Given the description of an element on the screen output the (x, y) to click on. 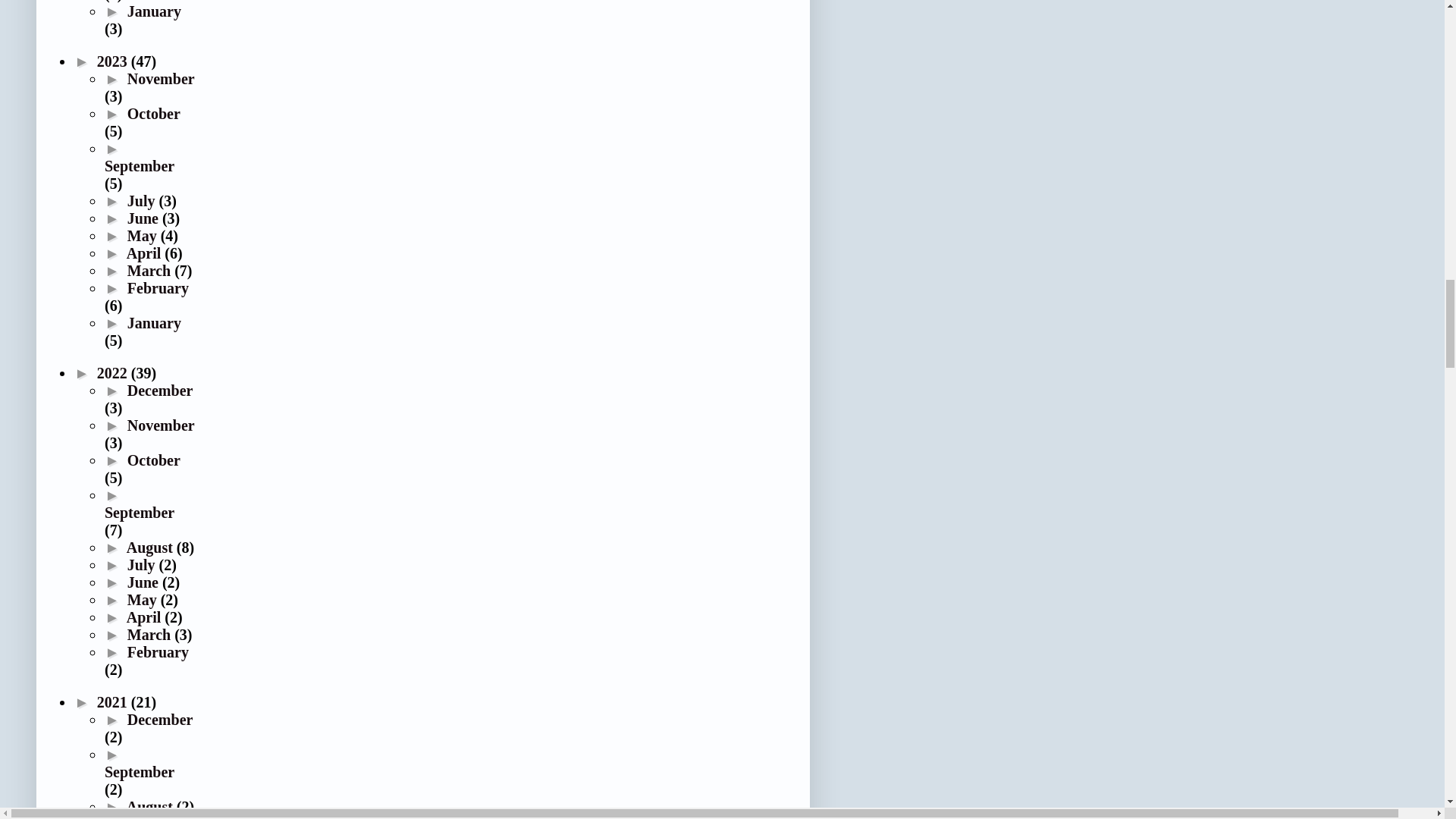
2023 (114, 61)
October (154, 113)
July (143, 200)
January (154, 11)
June (144, 217)
November (161, 78)
September (139, 166)
